Given the description of an element on the screen output the (x, y) to click on. 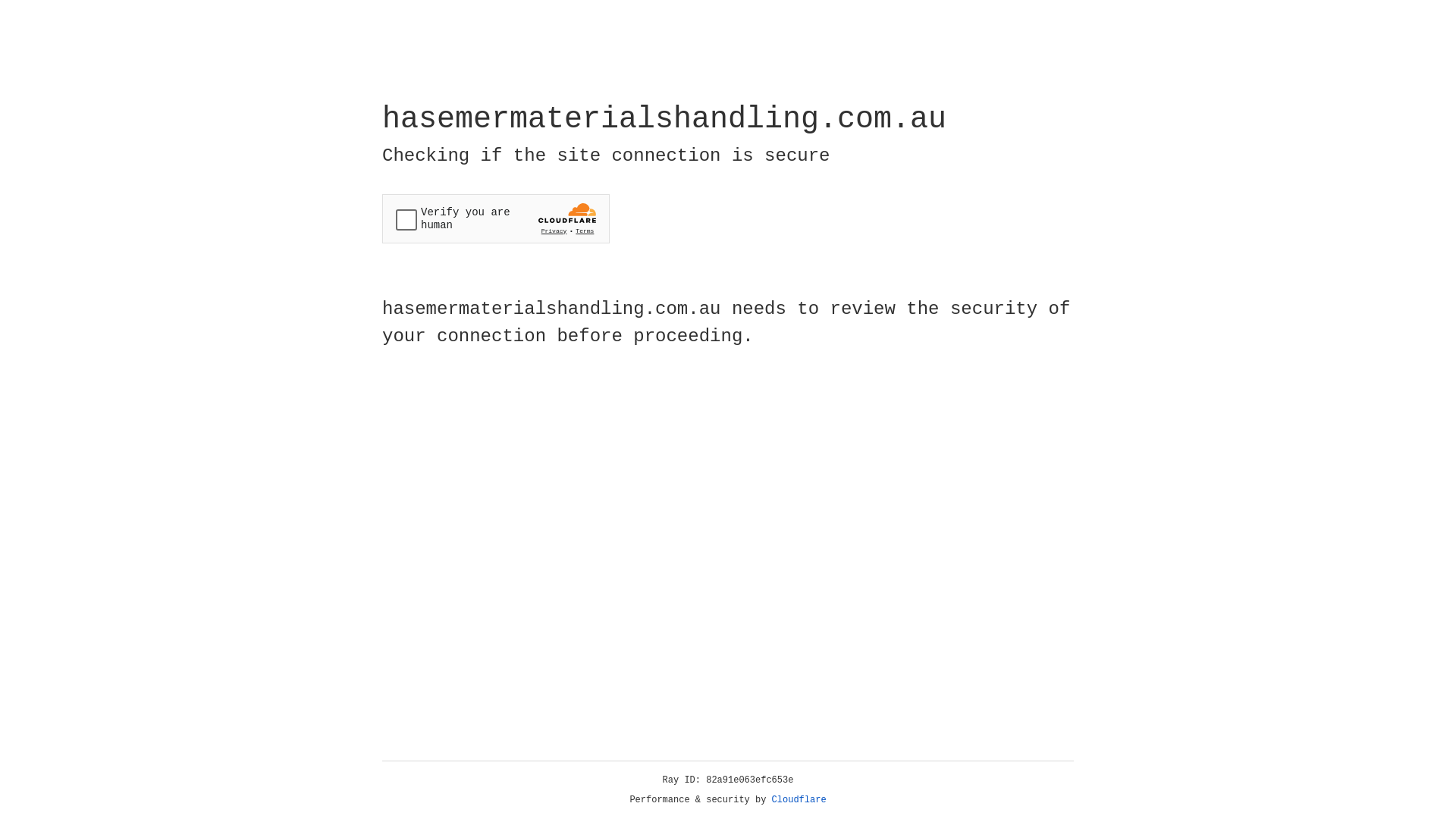
Cloudflare Element type: text (798, 799)
Widget containing a Cloudflare security challenge Element type: hover (495, 218)
